Given the description of an element on the screen output the (x, y) to click on. 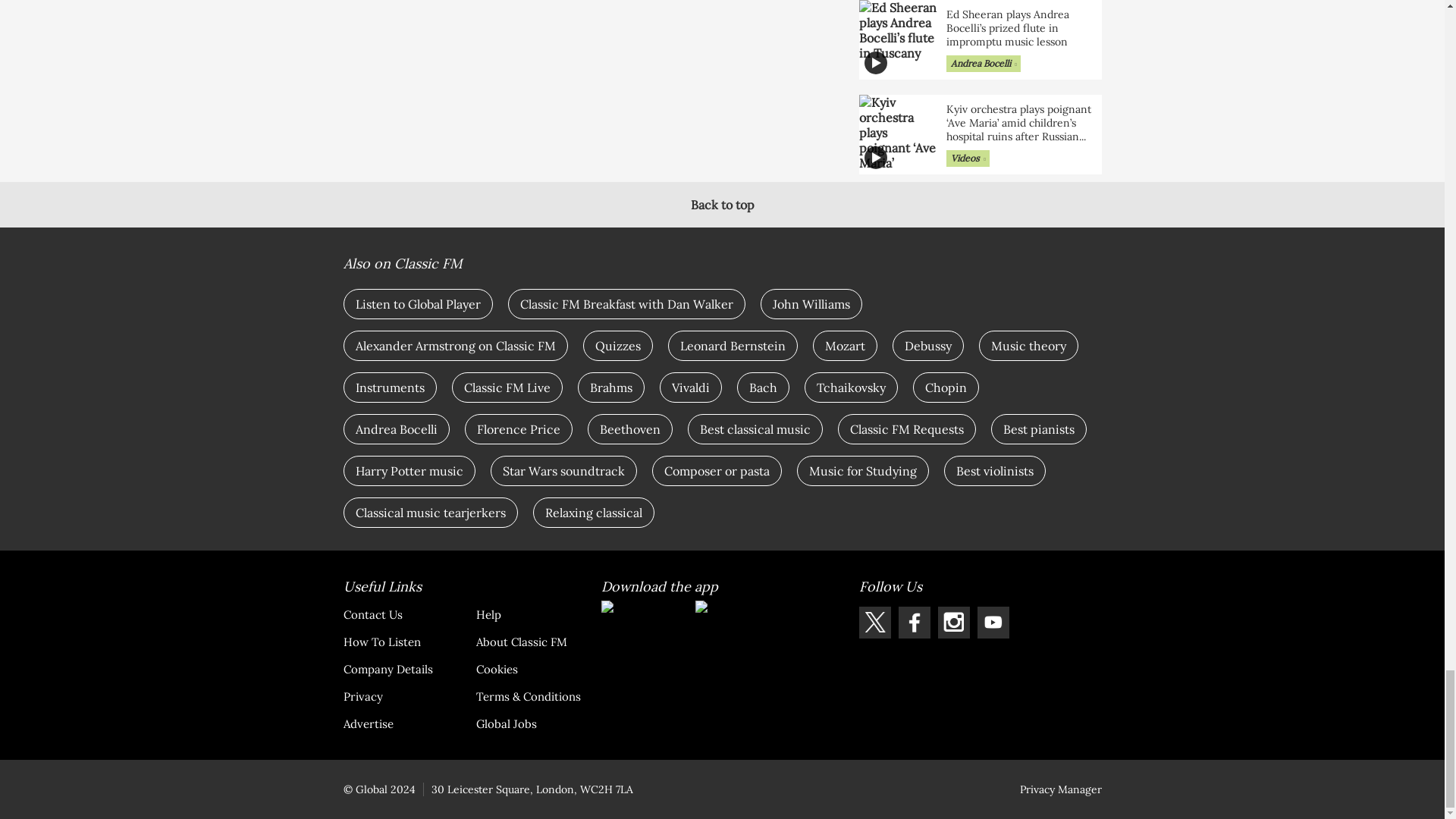
Follow Classic FM on Youtube (992, 622)
Follow Classic FM on Instagram (953, 622)
Follow Classic FM on X (874, 622)
Back to top (722, 204)
Follow Classic FM on Facebook (914, 622)
